Given the description of an element on the screen output the (x, y) to click on. 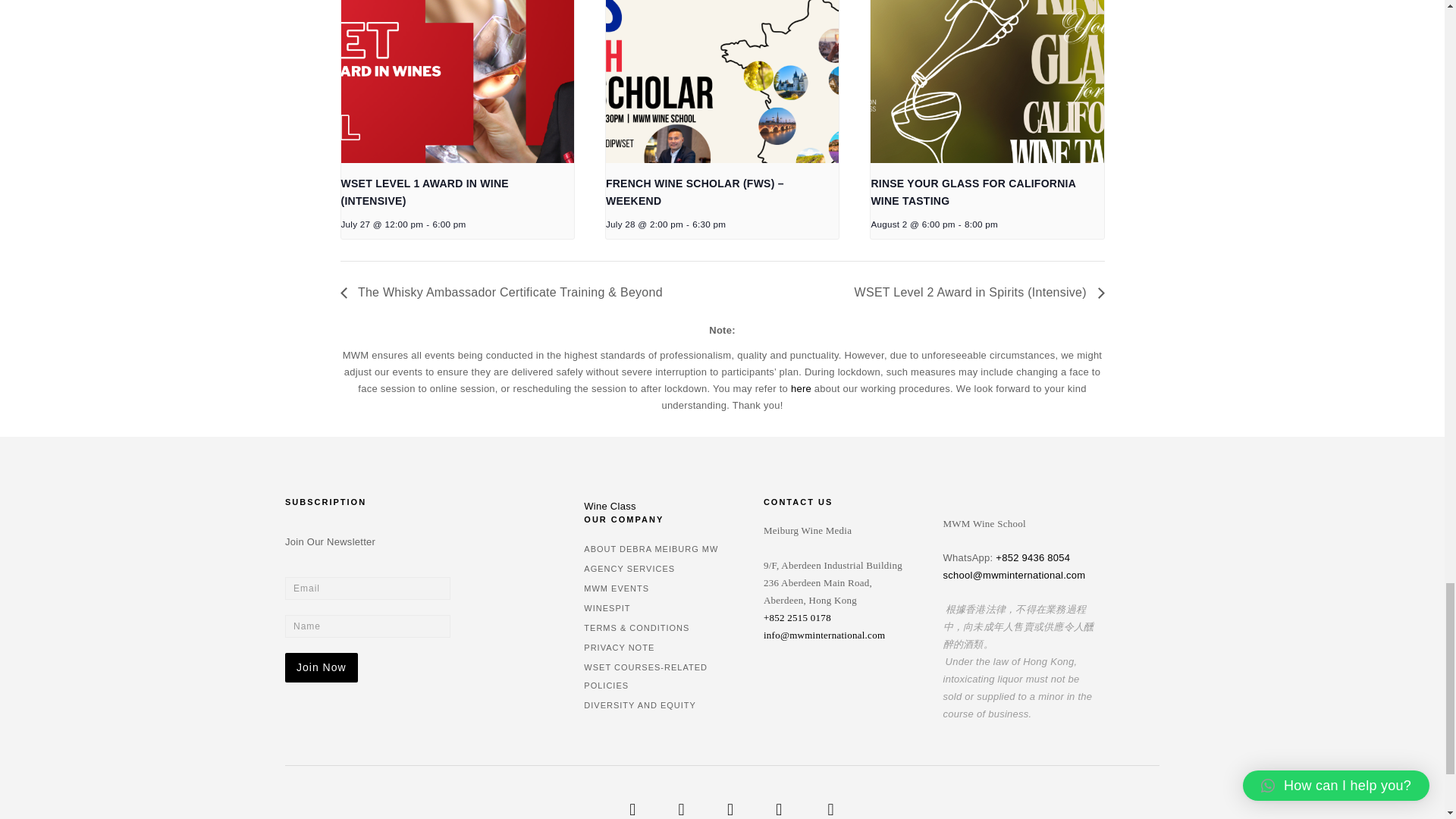
Join Now (321, 667)
